Given the description of an element on the screen output the (x, y) to click on. 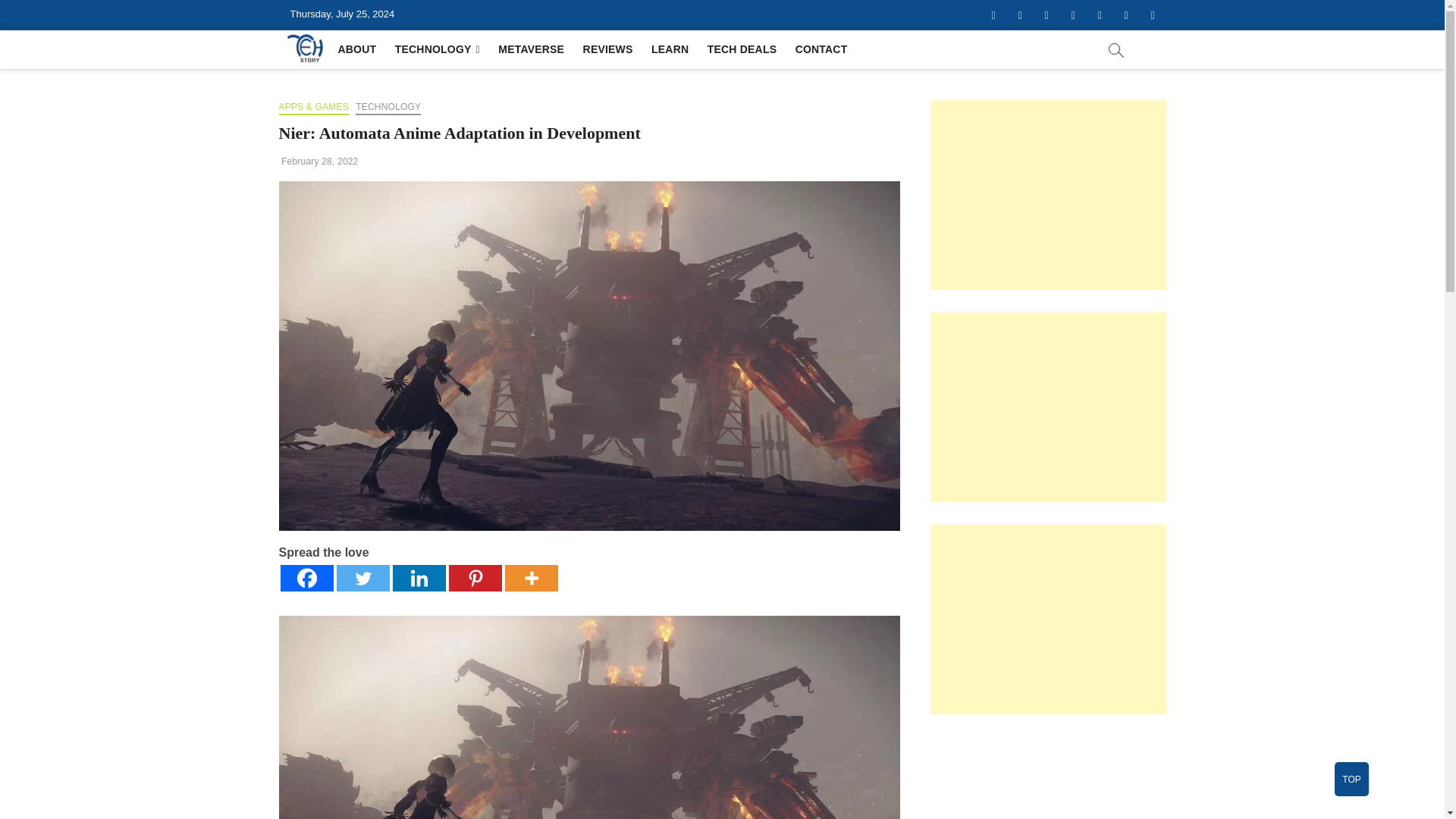
Twitter (1020, 15)
REVIEWS (607, 48)
Instagram (1072, 15)
Facebook (992, 15)
TECHNOLOGY (437, 49)
Tumblr (1099, 15)
LEARN (669, 48)
TECHNOLOGY (387, 108)
CONTACT (821, 48)
Linkedin (419, 578)
